Given the description of an element on the screen output the (x, y) to click on. 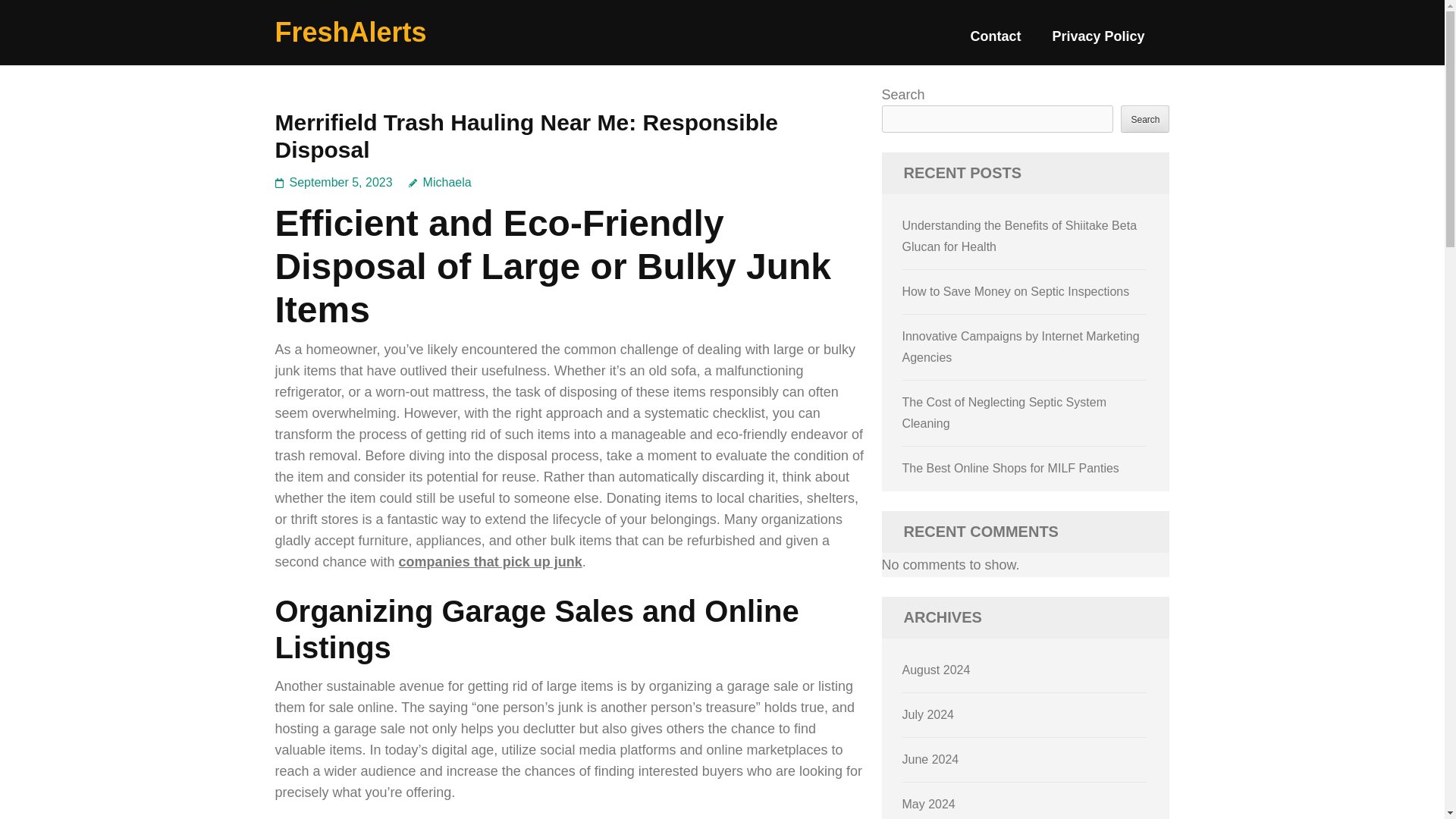
Search (1145, 118)
June 2024 (930, 758)
Michaela (440, 182)
August 2024 (936, 669)
Contact (994, 42)
The Cost of Neglecting Septic System Cleaning (1004, 412)
companies that pick up junk (490, 561)
May 2024 (928, 803)
July 2024 (928, 714)
How to Save Money on Septic Inspections (1015, 291)
September 5, 2023 (341, 182)
Innovative Campaigns by Internet Marketing Agencies (1021, 346)
The Best Online Shops for MILF Panties (1010, 468)
FreshAlerts (350, 31)
